Given the description of an element on the screen output the (x, y) to click on. 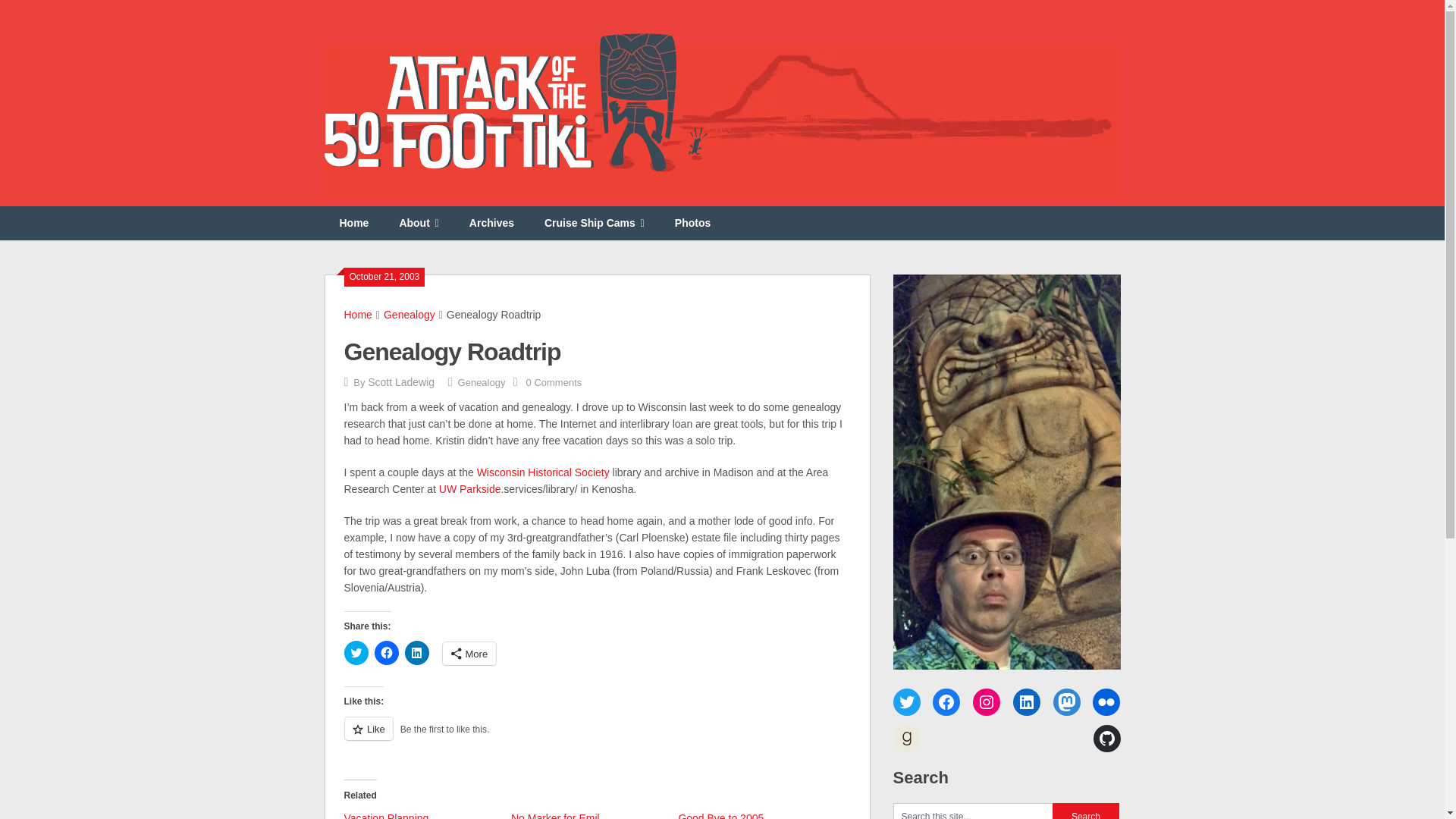
Search (1085, 811)
Wisconsin Historical Society (543, 472)
Good Bye to 2005 (720, 815)
Vacation Planning (386, 815)
0 Comments (553, 382)
Click to share on Facebook (386, 652)
More (469, 653)
Search this site... (972, 811)
Posts by Scott Ladewig (400, 381)
Scott Ladewig (400, 381)
Home (357, 314)
UW Parkside (469, 489)
Genealogy (481, 382)
Click to share on Twitter (355, 652)
Home (354, 223)
